Given the description of an element on the screen output the (x, y) to click on. 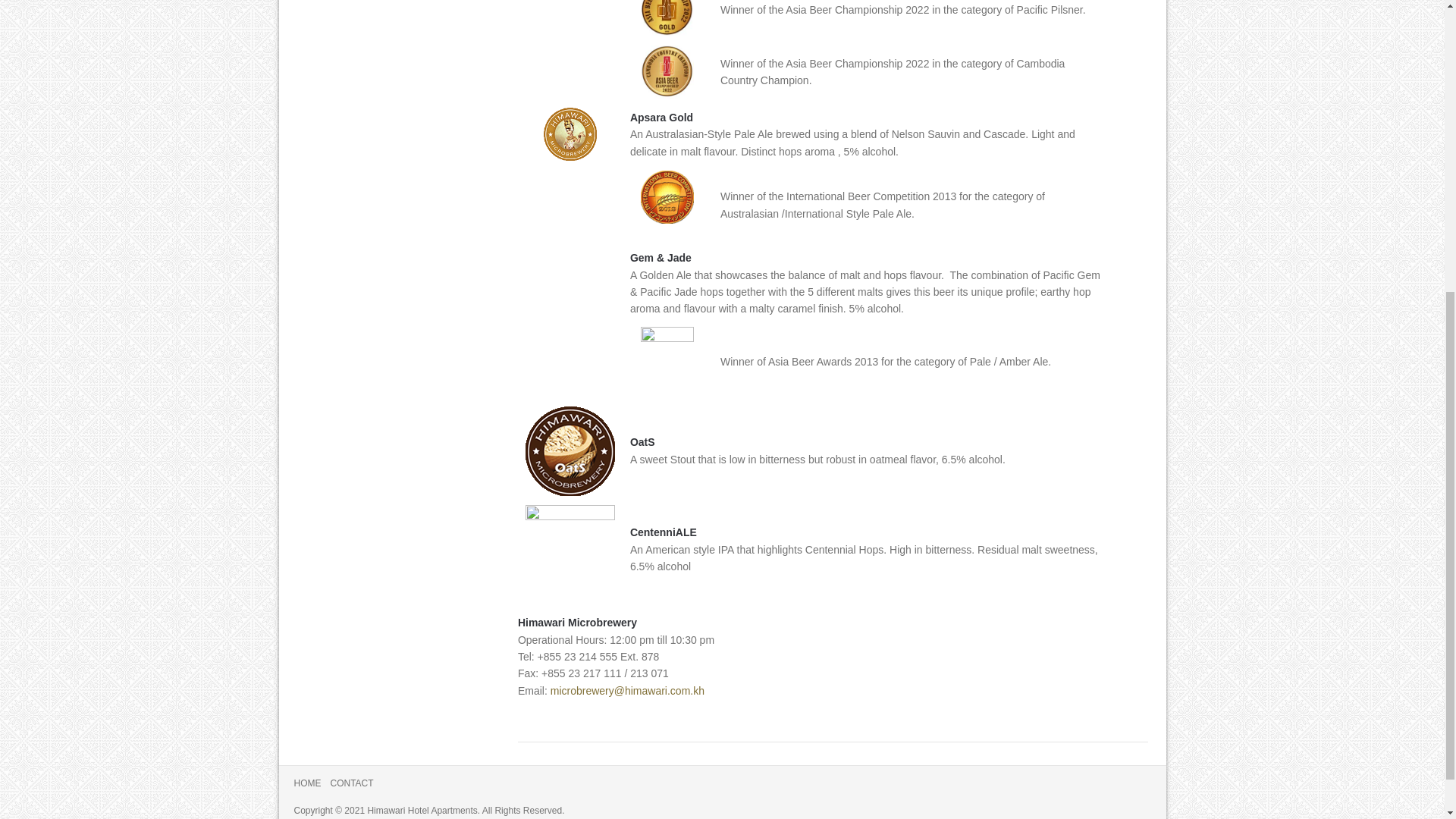
Youtube (1134, 791)
Youtube (1134, 791)
Facebook (1102, 791)
Facebook (1102, 791)
CONTACT (352, 783)
HOME (307, 783)
